Given the description of an element on the screen output the (x, y) to click on. 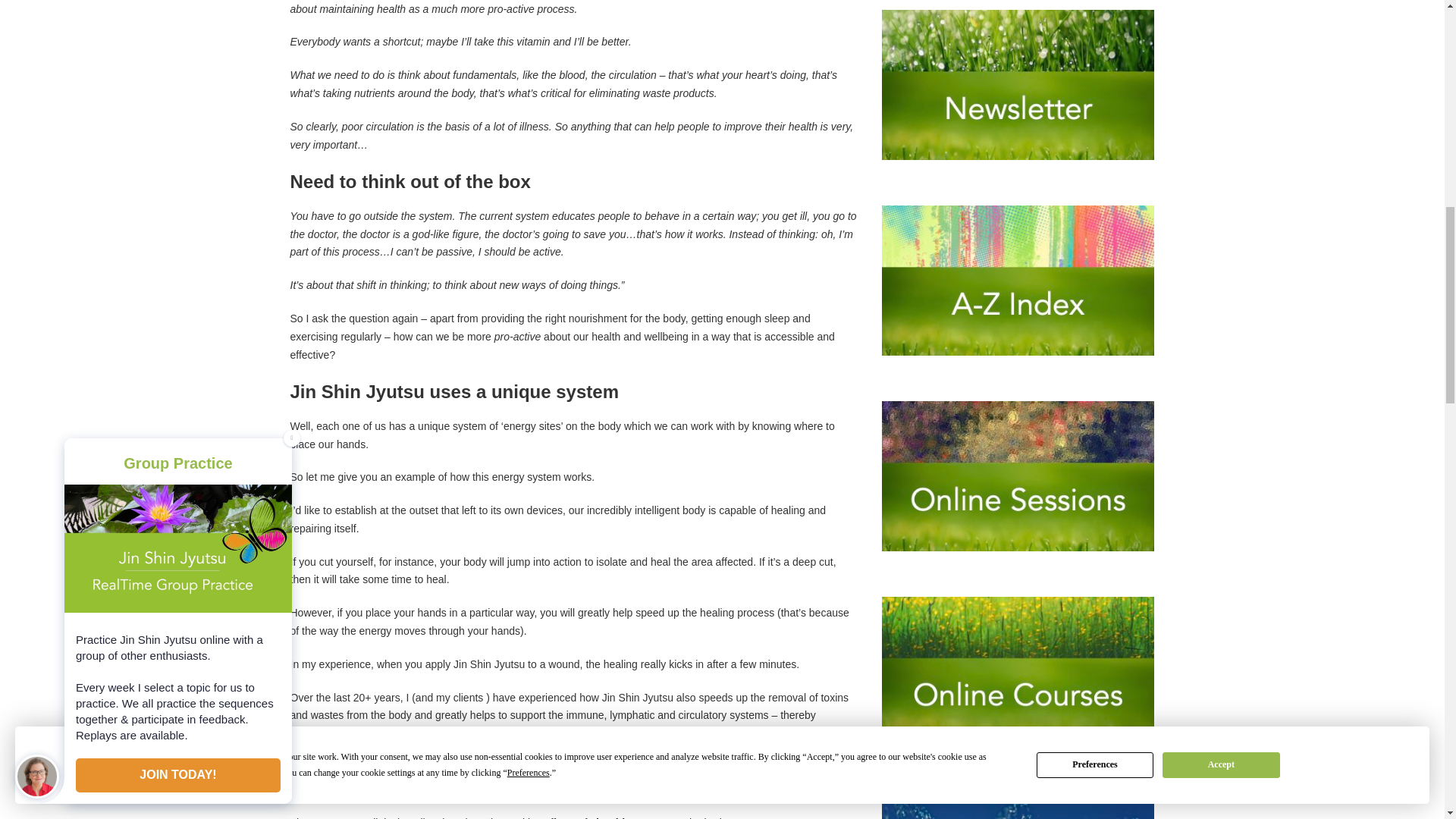
Jin Shin Jyutsu (628, 817)
